Given the description of an element on the screen output the (x, y) to click on. 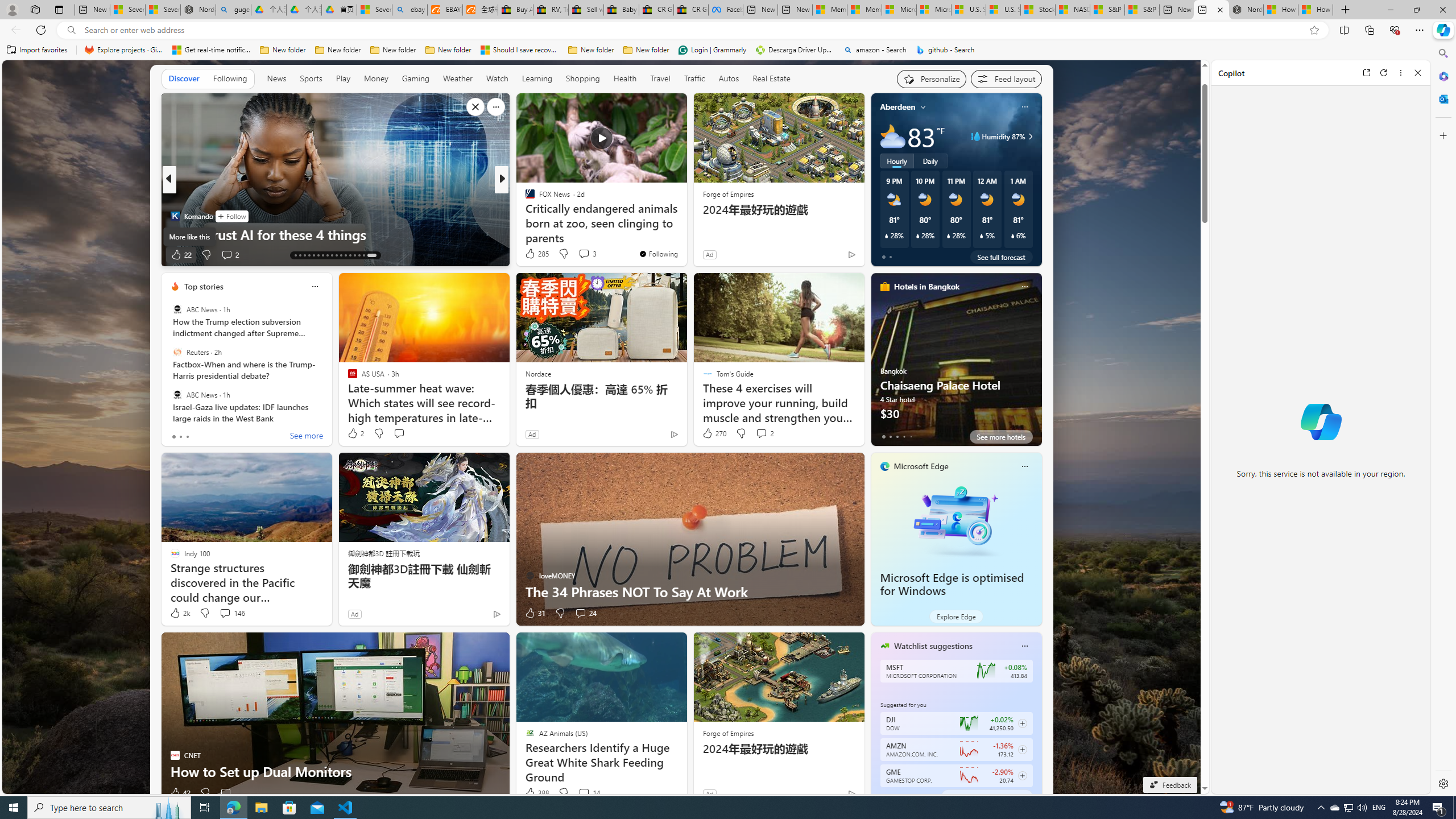
Travel (660, 79)
View comments 3 Comment (583, 253)
Import favorites (36, 49)
Aberdeen (897, 106)
AutomationID: backgroundImagePicture (601, 426)
Facebook (725, 9)
Ad Choice (851, 793)
Learning (537, 79)
Explore Edge (955, 616)
Class: follow-button  m (1021, 775)
